Given the description of an element on the screen output the (x, y) to click on. 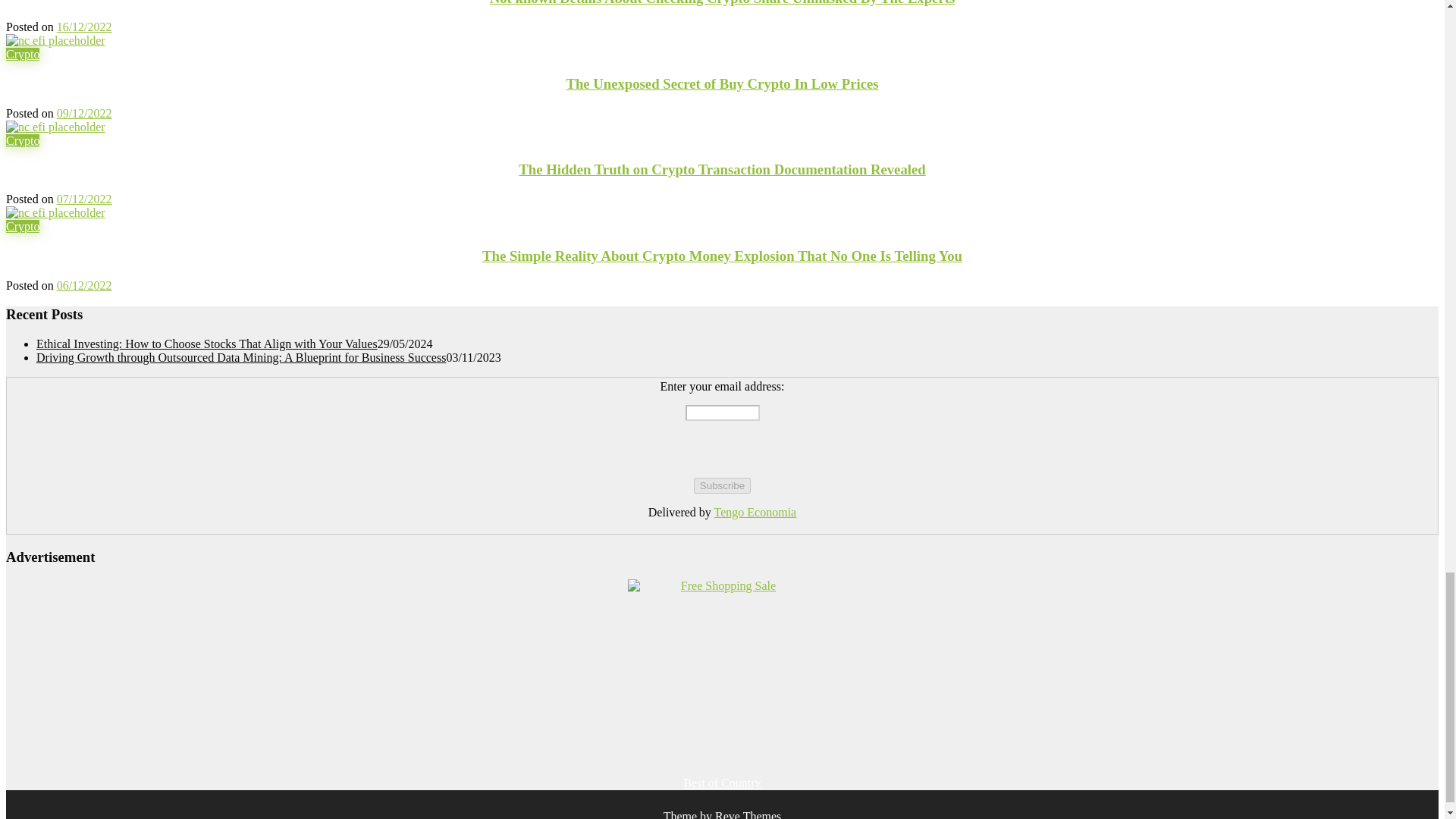
The Unexposed Secret of Buy Crypto In Low Prices 11 (54, 40)
The Unexposed Secret of Buy Crypto In Low Prices (54, 40)
Subscribe (722, 485)
